Given the description of an element on the screen output the (x, y) to click on. 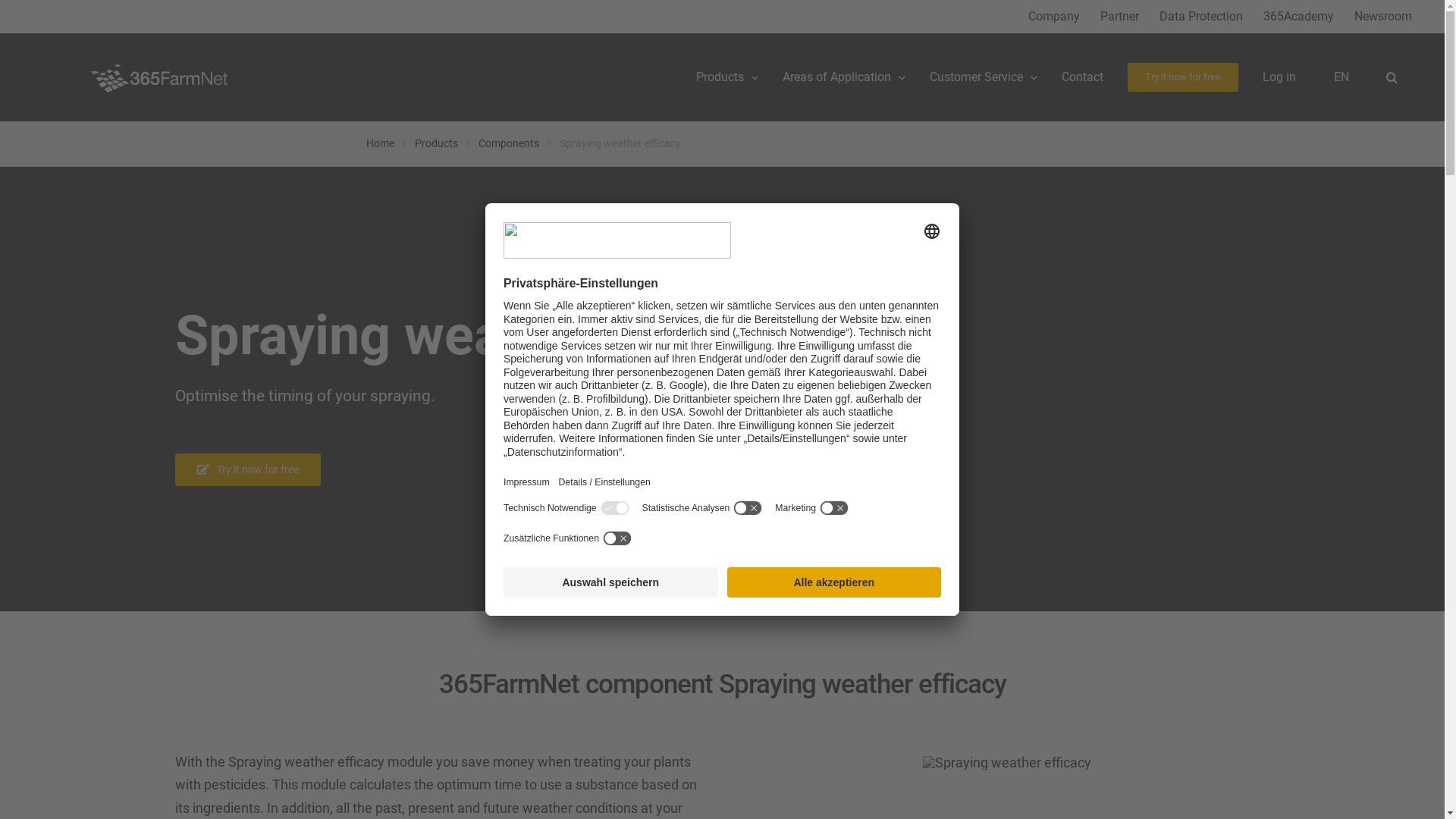
Areas of Application Element type: text (843, 77)
Home Element type: text (379, 143)
365Academy Element type: text (1298, 16)
Log in Element type: text (1278, 77)
EN Element type: text (1341, 77)
Try it now for free Element type: text (247, 469)
Search Element type: hover (1391, 77)
Try it now for free Element type: text (1182, 77)
